Given the description of an element on the screen output the (x, y) to click on. 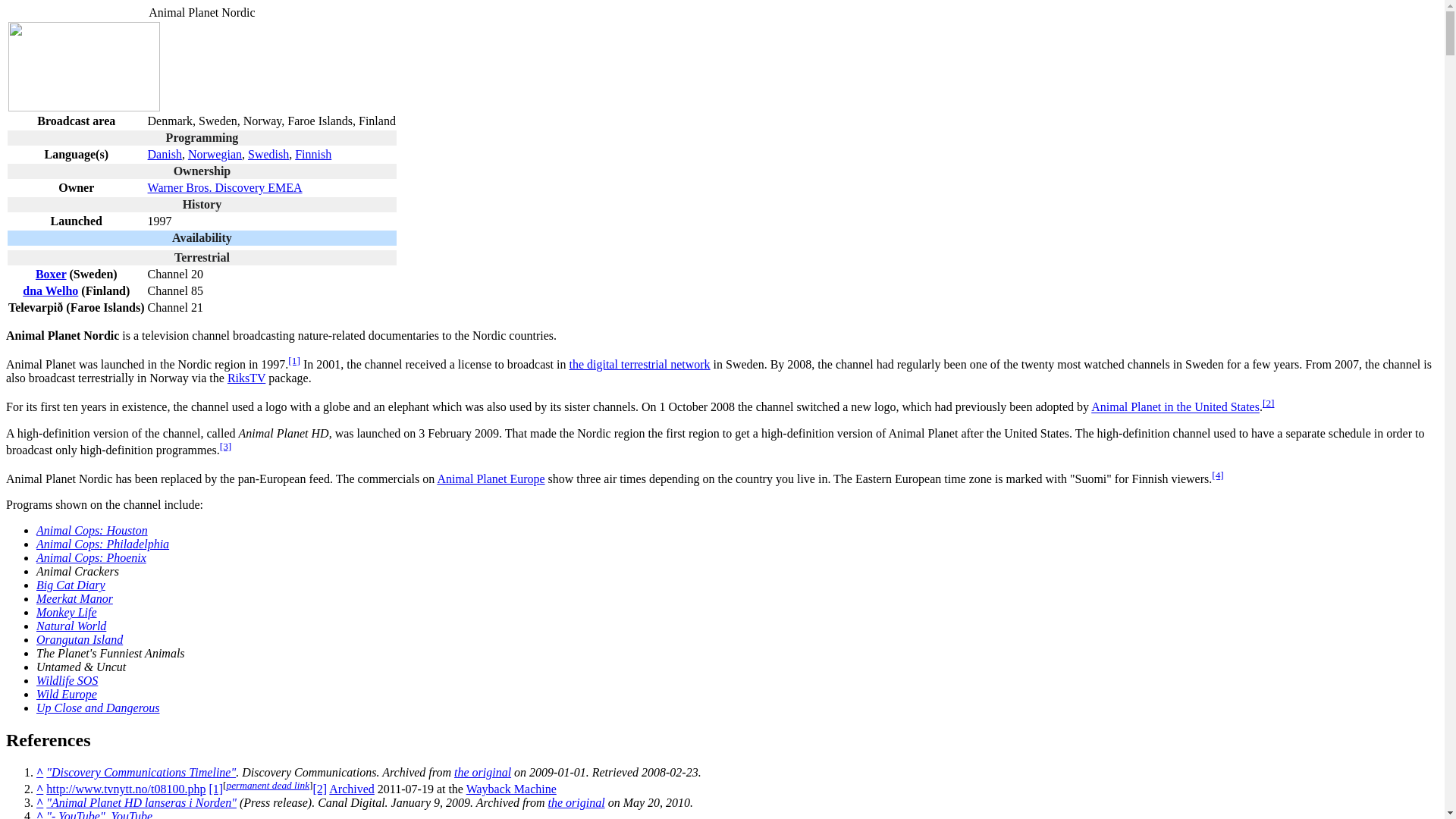
Norwegian (214, 154)
Wild Europe (66, 694)
RiksTV (245, 377)
Animal Cops: Philadelphia (102, 543)
Danish (165, 154)
Up Close and Dangerous (98, 707)
"Discovery Communications Timeline" (140, 771)
Wildlife SOS (66, 680)
Animal Cops: Houston (92, 530)
RiksTV (245, 377)
Finnish language (313, 154)
Animal Planet Europe (490, 478)
Swedish language (267, 154)
Animal Planet Europe (490, 478)
Boxer (50, 273)
